Given the description of an element on the screen output the (x, y) to click on. 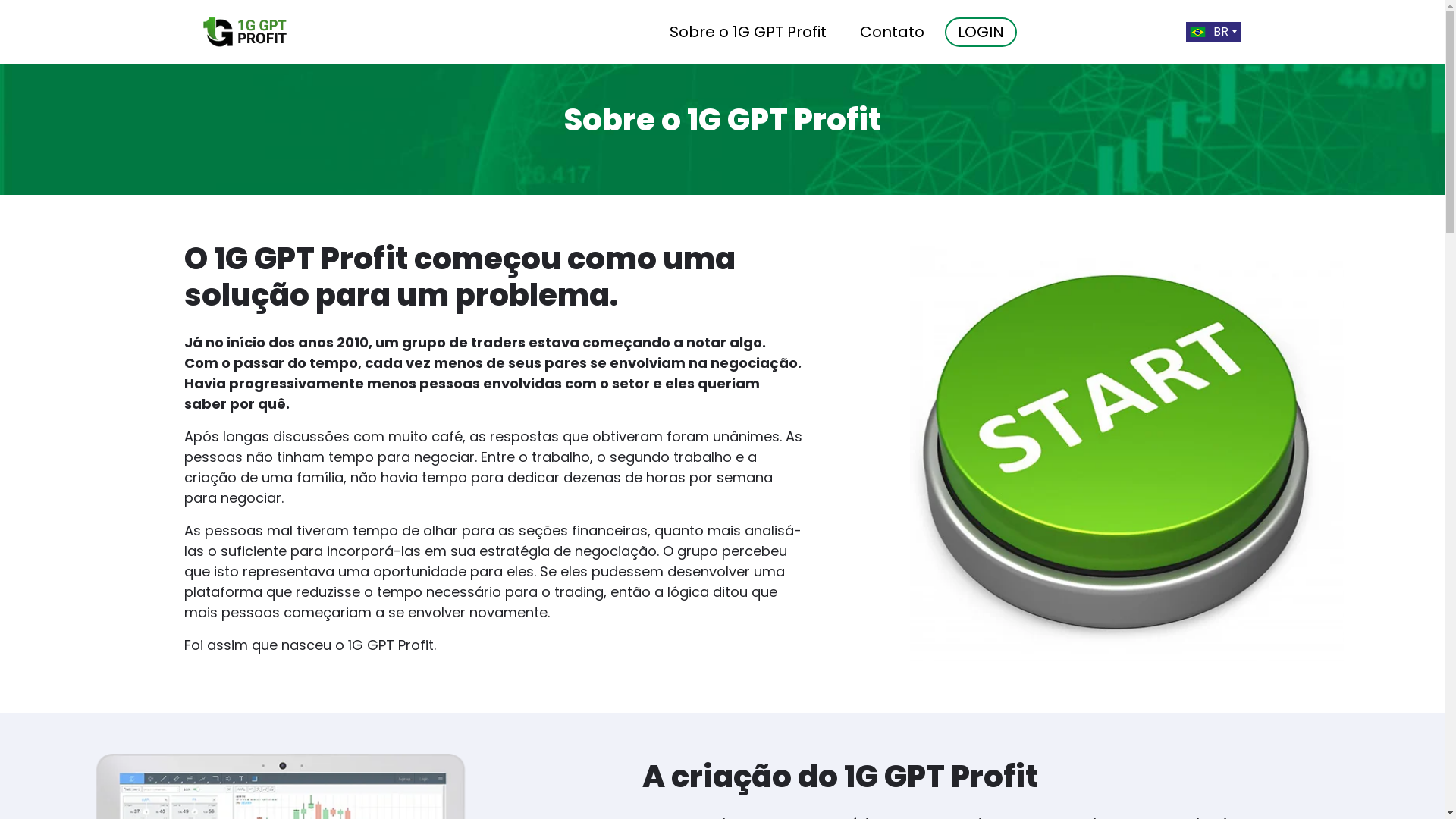
Sobre o 1G GPT Profit Element type: text (747, 31)
Contato Element type: text (892, 31)
LOGIN Element type: text (980, 31)
